Given the description of an element on the screen output the (x, y) to click on. 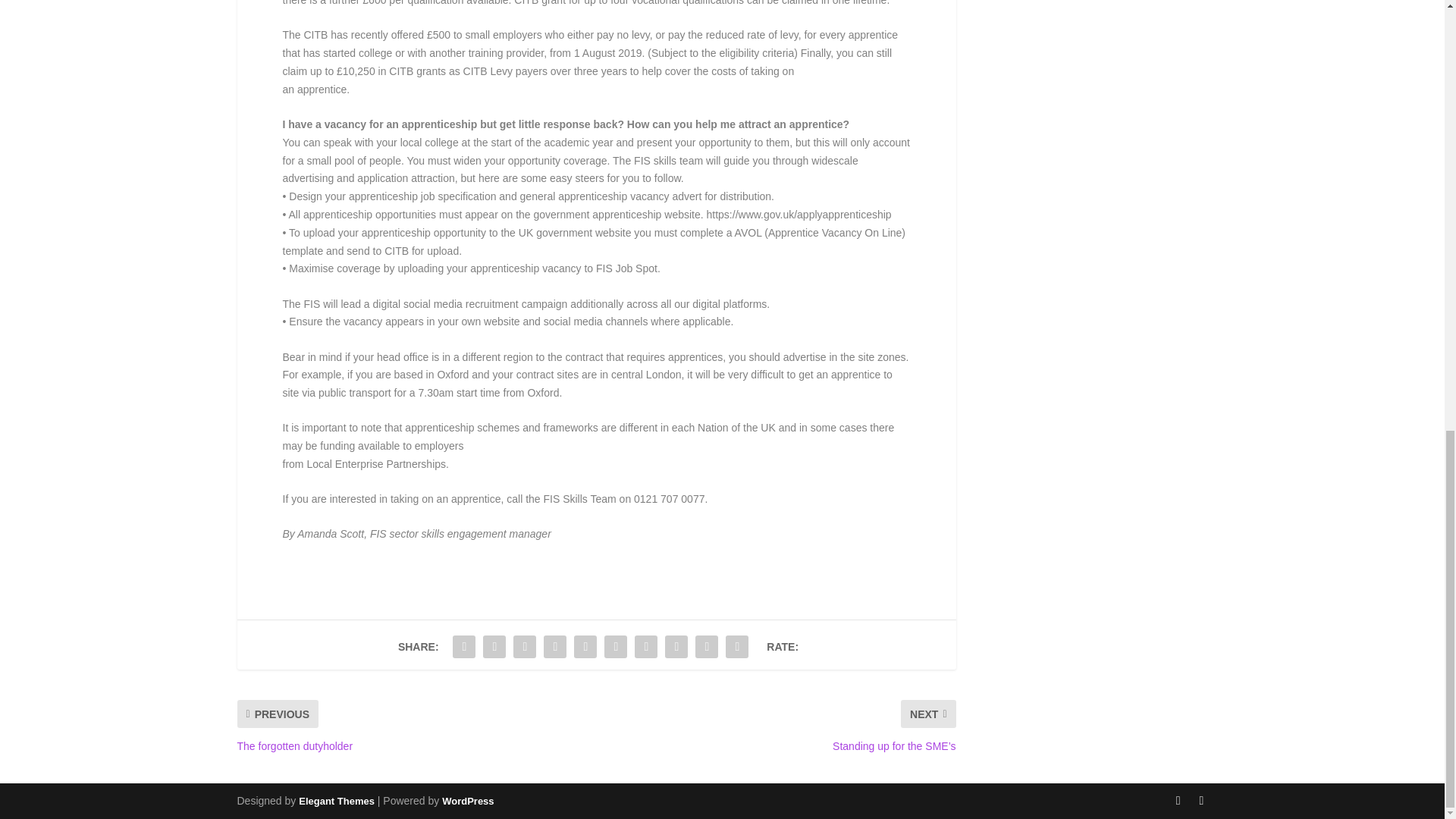
Share "Training recognised as a huge opportunity" via Email (706, 646)
WordPress (467, 800)
Share "Training recognised as a huge opportunity" via Tumblr (555, 646)
Share "Training recognised as a huge opportunity" via Print (737, 646)
Premium WordPress Themes (336, 800)
